Given the description of an element on the screen output the (x, y) to click on. 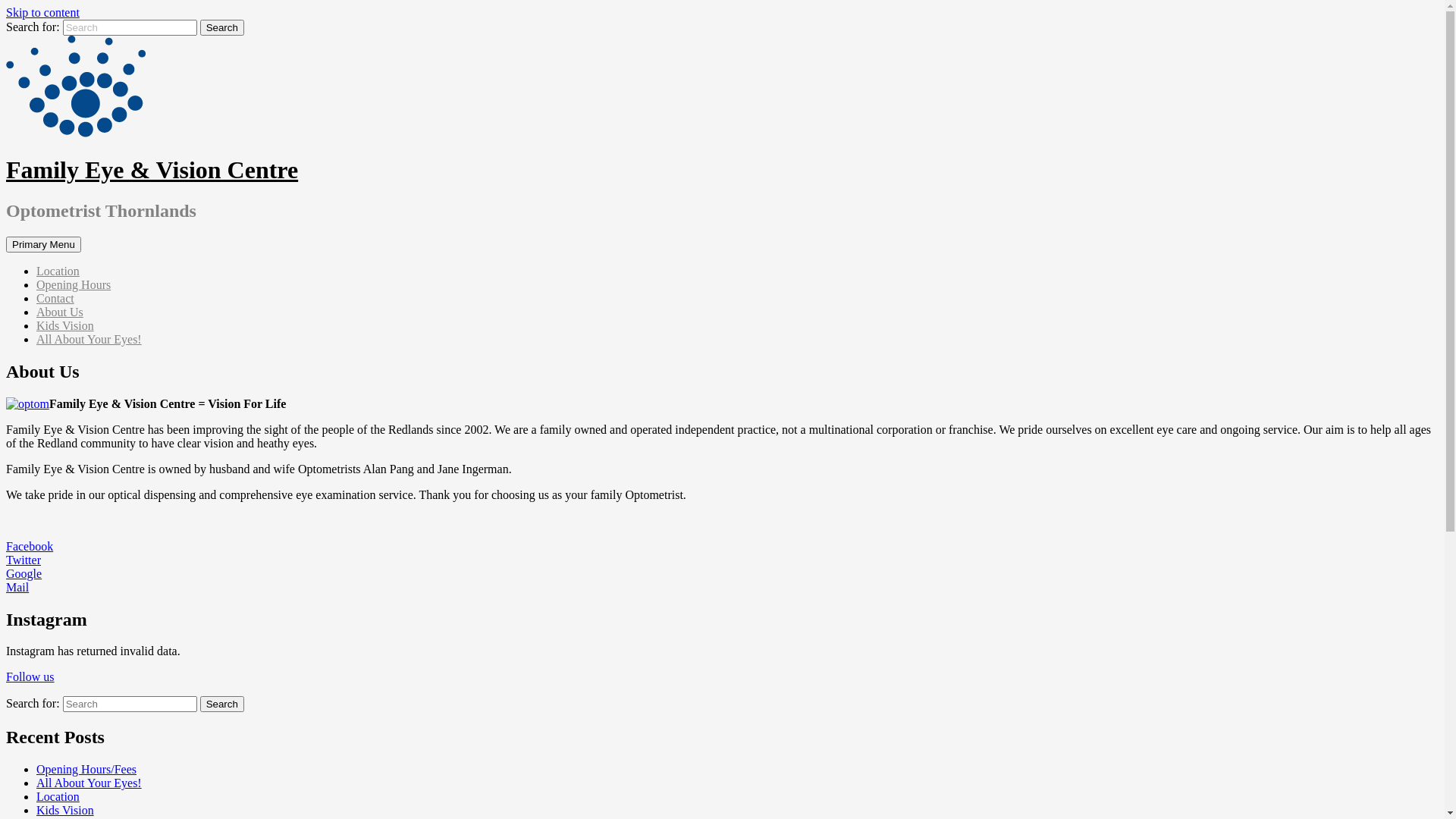
Search Element type: text (222, 27)
Search for: Element type: hover (129, 704)
Location Element type: text (57, 796)
About Us Element type: text (59, 311)
Family Eye & Vision Centre Element type: hover (75, 132)
Contact Element type: text (55, 297)
All About Your Eyes! Element type: text (88, 782)
Opening Hours Element type: text (73, 284)
Primary Menu Element type: text (43, 244)
Mail Element type: text (17, 586)
Location Element type: text (57, 270)
Facebook Element type: text (29, 545)
Twitter Element type: text (23, 559)
Family Eye & Vision Centre Element type: text (152, 169)
Kids Vision Element type: text (65, 325)
Skip to content Element type: text (42, 12)
Google Element type: text (23, 573)
Opening Hours/Fees Element type: text (86, 768)
Follow us Element type: text (30, 676)
Search Element type: text (222, 704)
Kids Vision Element type: text (65, 809)
Search for: Element type: hover (129, 27)
All About Your Eyes! Element type: text (88, 338)
